Given the description of an element on the screen output the (x, y) to click on. 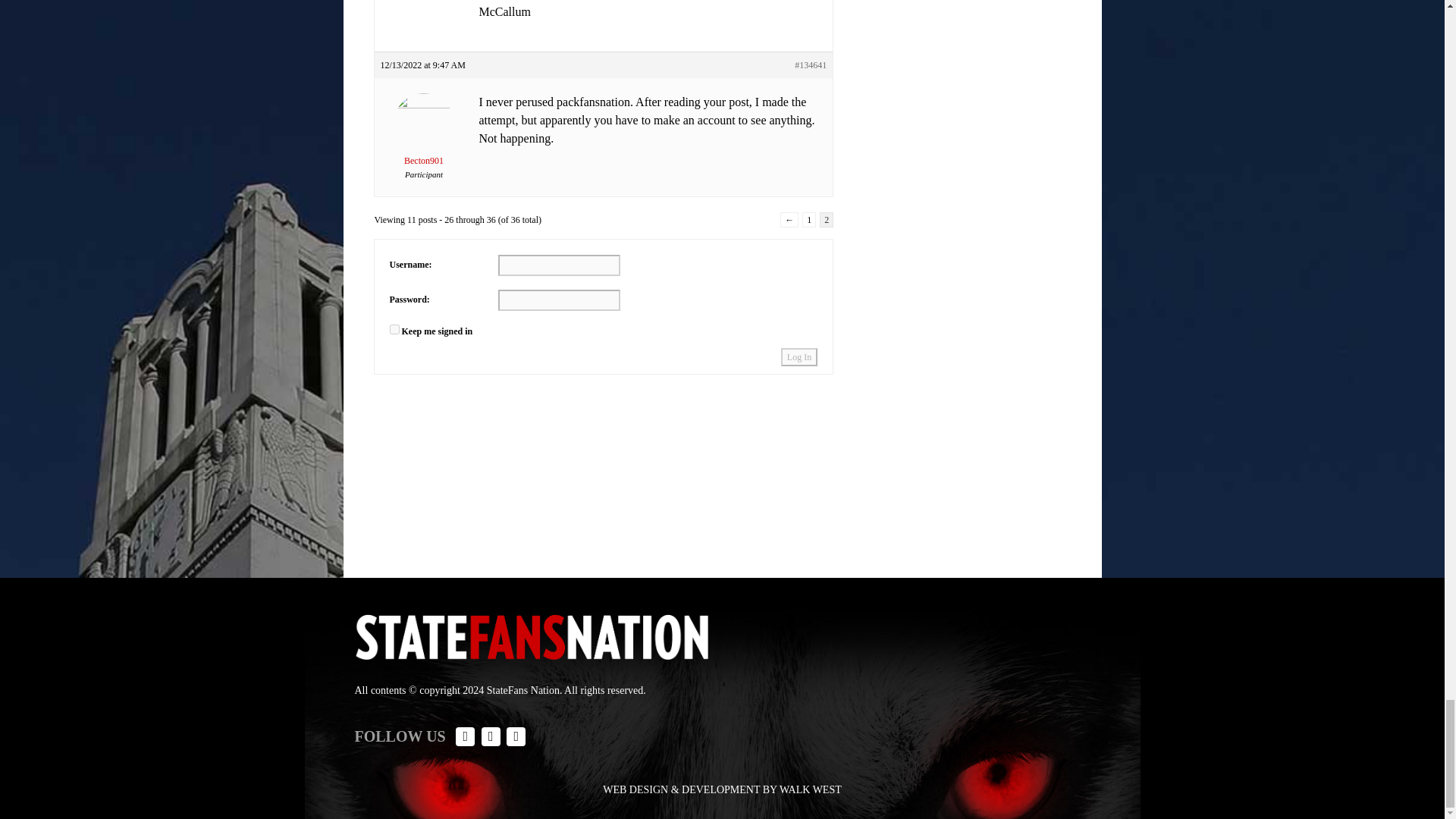
forever (394, 329)
View Becton901's profile (423, 139)
